Given the description of an element on the screen output the (x, y) to click on. 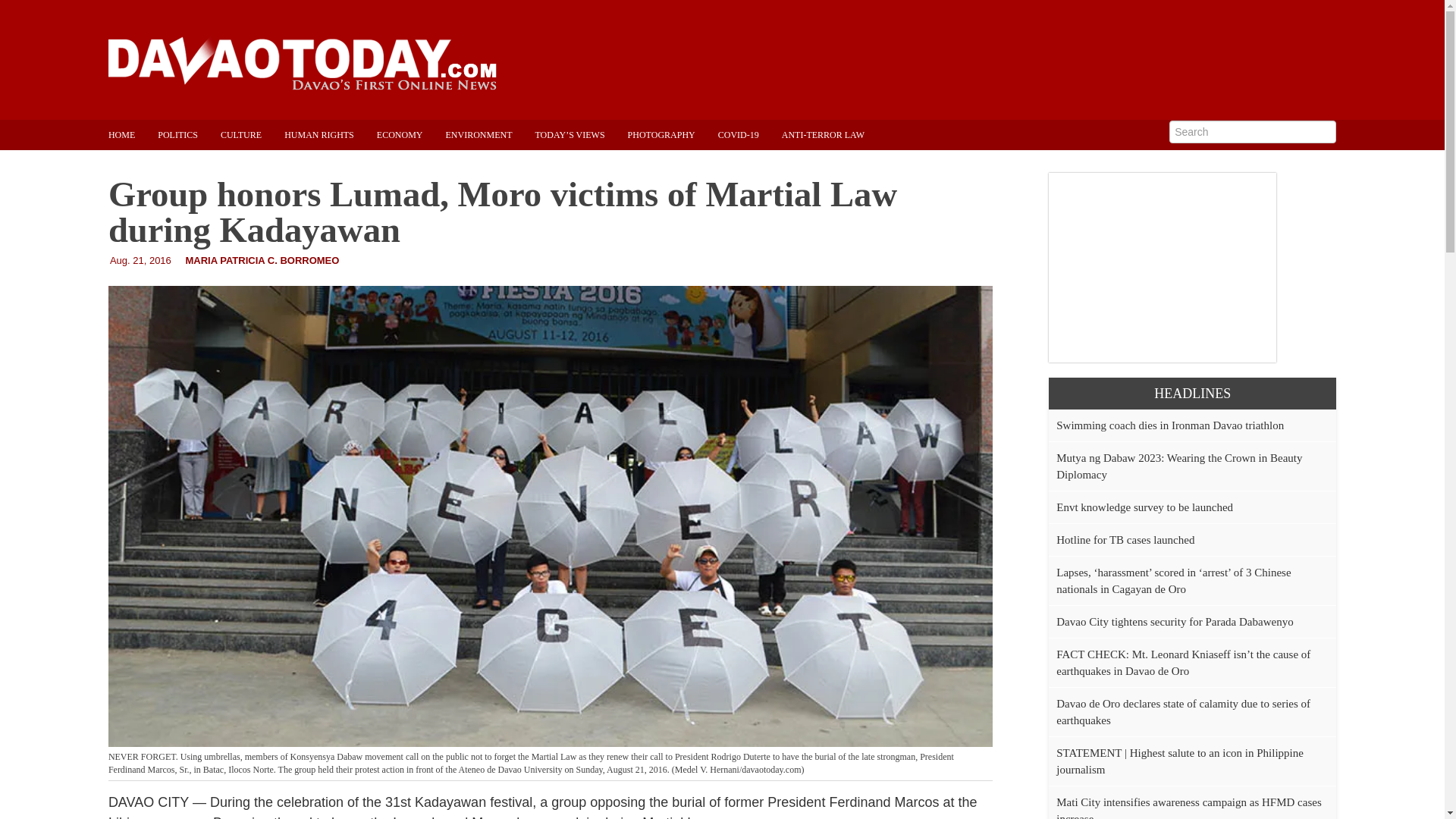
Posts by Maria Patricia C. Borromeo (261, 260)
HOME (132, 134)
MARIA PATRICIA C. BORROMEO (261, 260)
Permanent Link to Envt knowledge survey to be launched (1145, 507)
Mutya ng Dabaw 2023: Wearing the Crown in Beauty Diplomacy (1179, 466)
Davao City tightens security for Parada Dabawenyo (1174, 621)
CULTURE (252, 134)
HUMAN RIGHTS (330, 134)
Envt knowledge survey to be launched (1145, 507)
PHOTOGRAPHY (672, 134)
COVID-19 (749, 134)
